Given the description of an element on the screen output the (x, y) to click on. 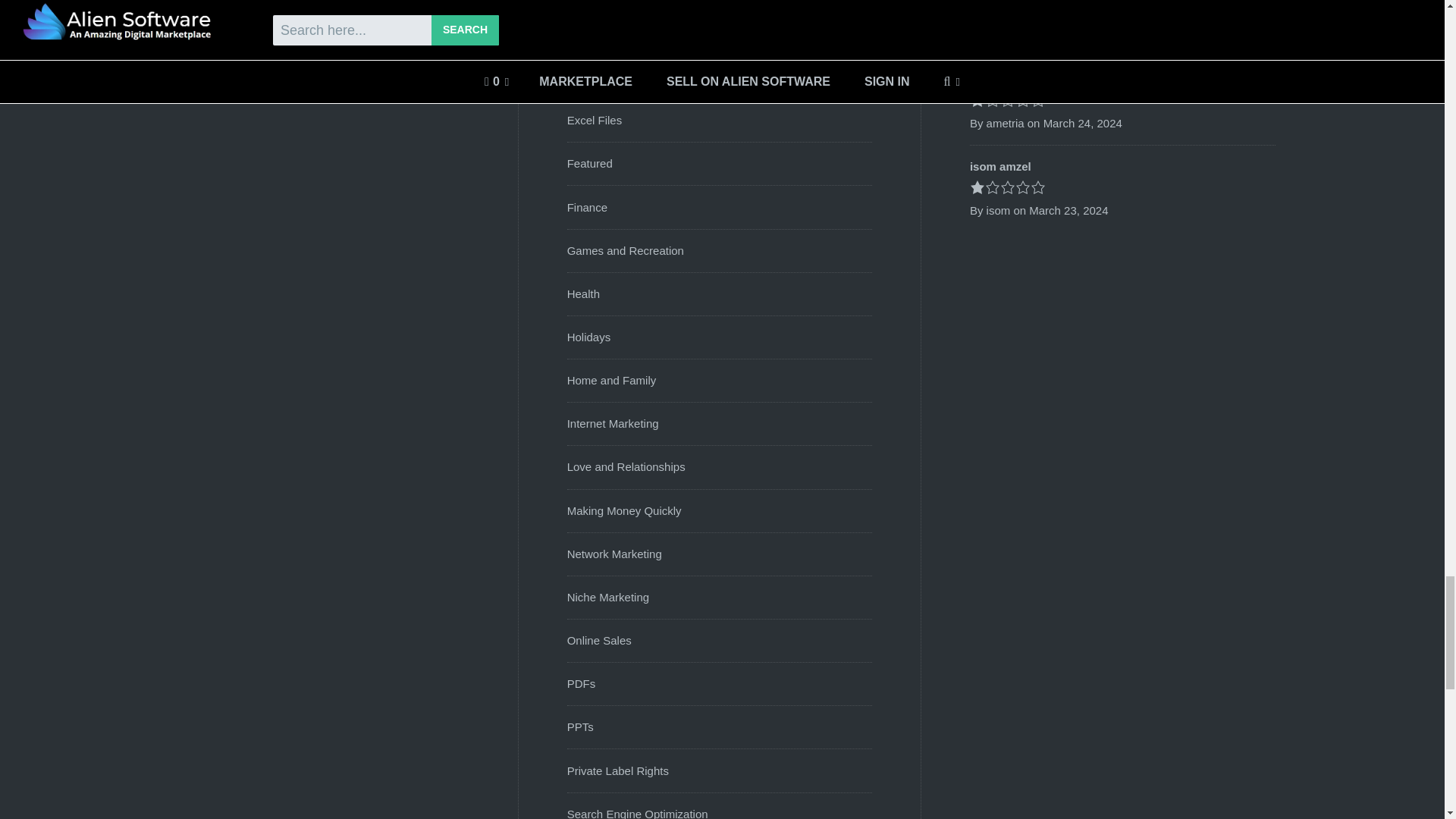
Holidays (589, 336)
Featured (589, 163)
Email List Building (614, 76)
Finance (587, 205)
Internet Marketing (613, 422)
Excel Files (595, 119)
Health (583, 293)
Courses (588, 33)
Games and Recreation (625, 250)
Home and Family (611, 379)
